Given the description of an element on the screen output the (x, y) to click on. 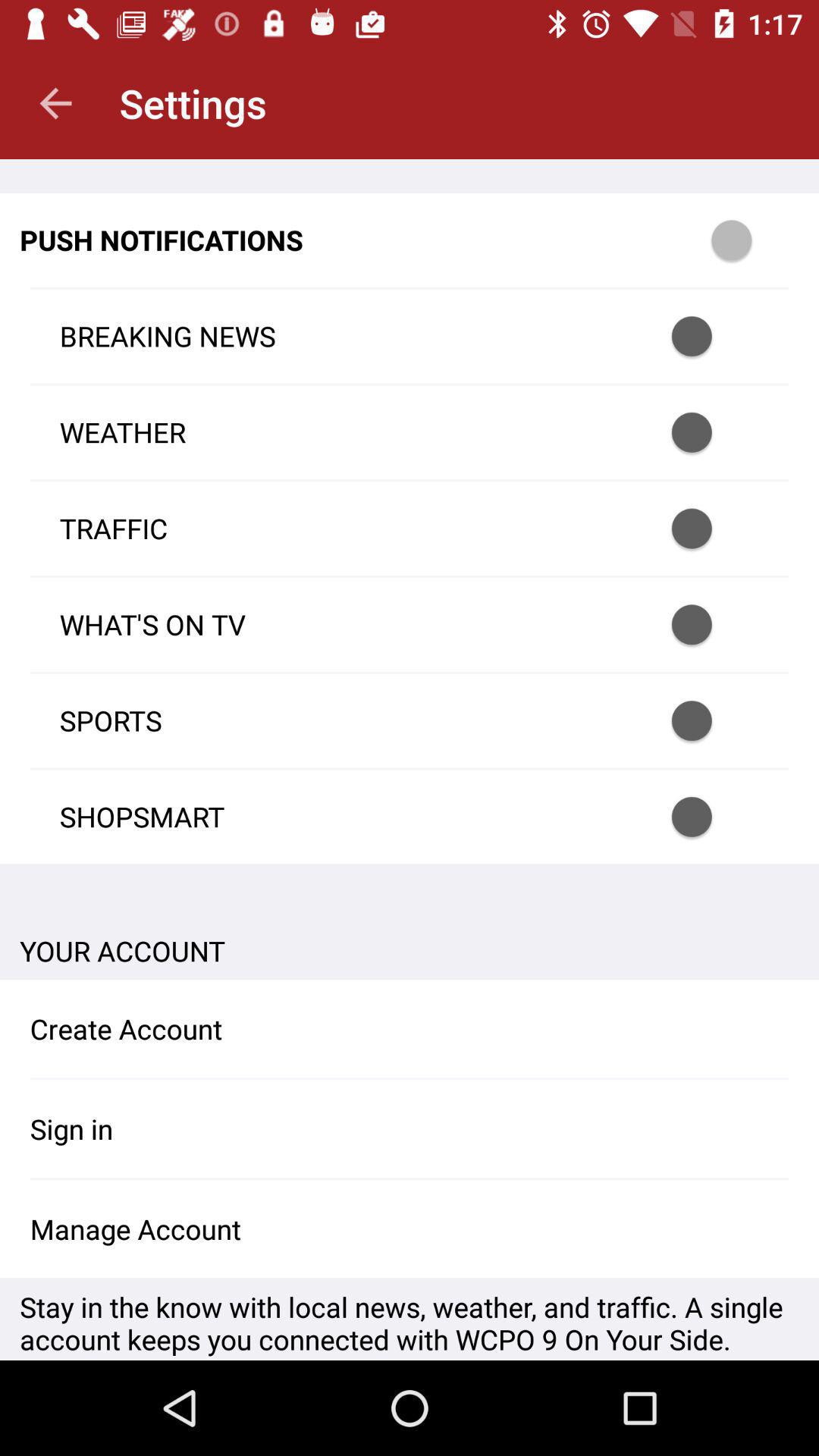
toggle push notification for breaking news (711, 336)
